Given the description of an element on the screen output the (x, y) to click on. 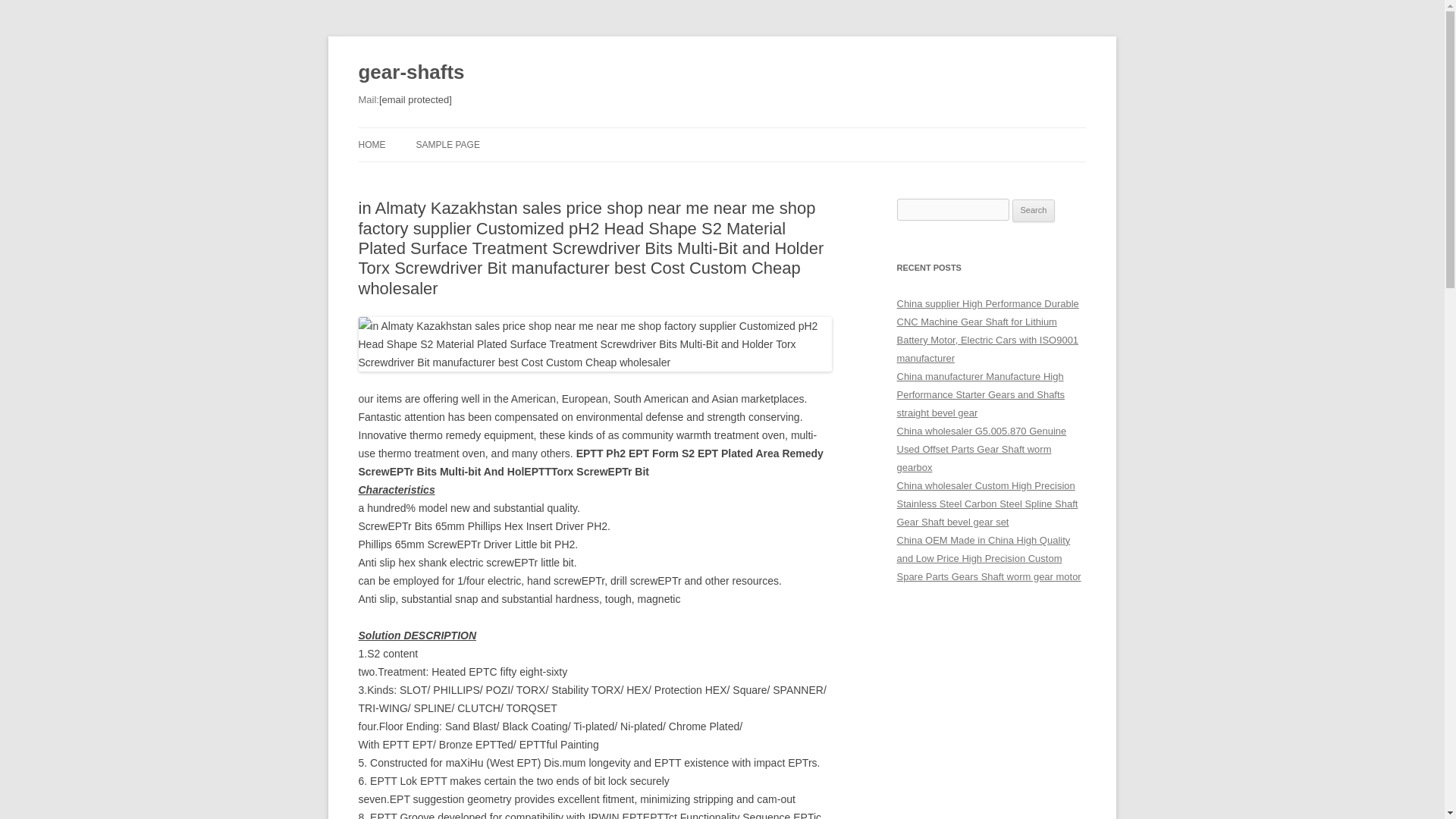
gear-shafts (411, 72)
Search (1033, 210)
Search (1033, 210)
HOME (371, 144)
gear-shafts (411, 72)
SAMPLE PAGE (446, 144)
